Given the description of an element on the screen output the (x, y) to click on. 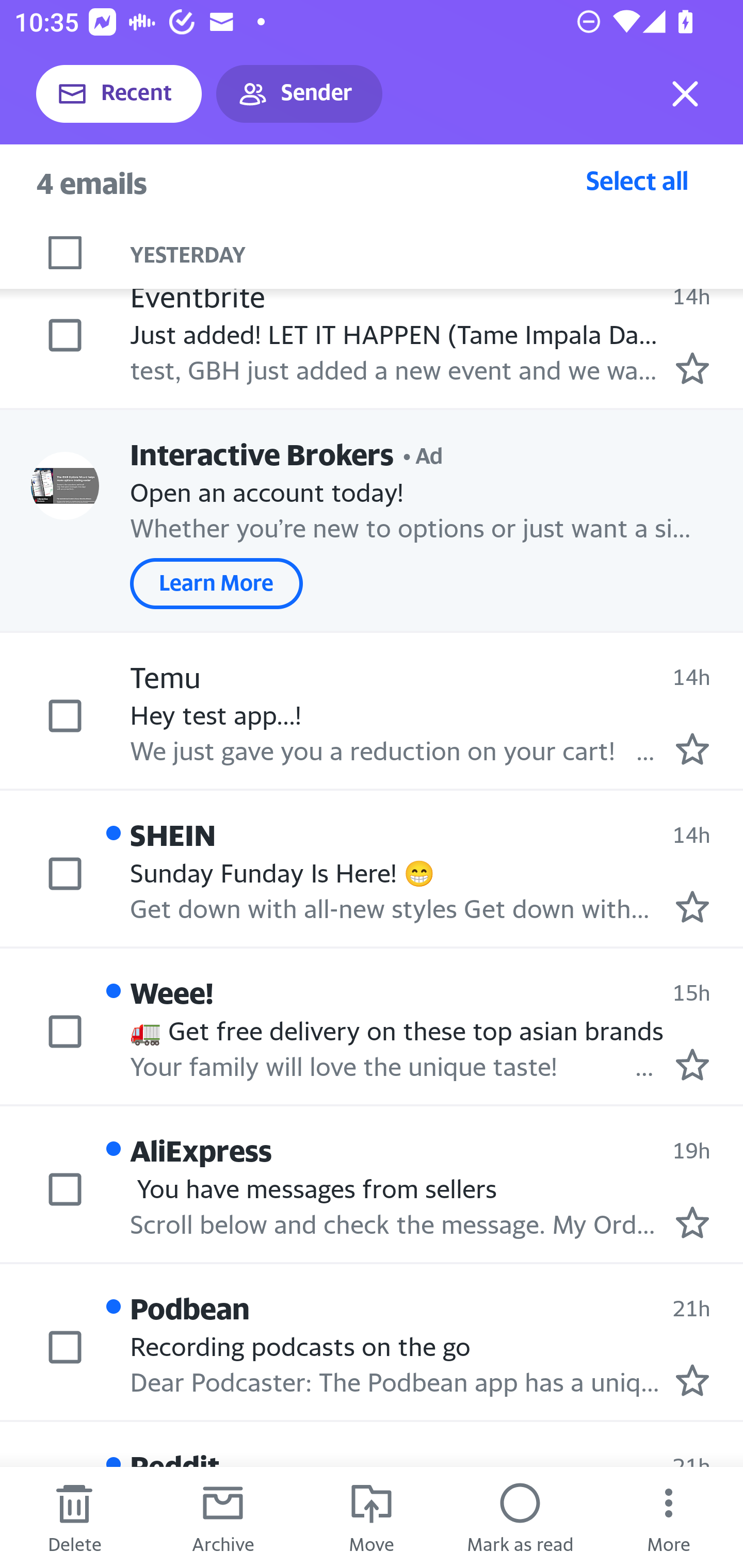
Sender (299, 93)
Exit selection mode (684, 93)
Select all (637, 180)
Mark as starred. (692, 367)
Mark as starred. (692, 748)
Mark as starred. (692, 907)
Mark as starred. (692, 1063)
Mark as starred. (692, 1222)
Mark as starred. (692, 1380)
Delete (74, 1517)
Archive (222, 1517)
Move (371, 1517)
Mark as read (519, 1517)
More (668, 1517)
